Given the description of an element on the screen output the (x, y) to click on. 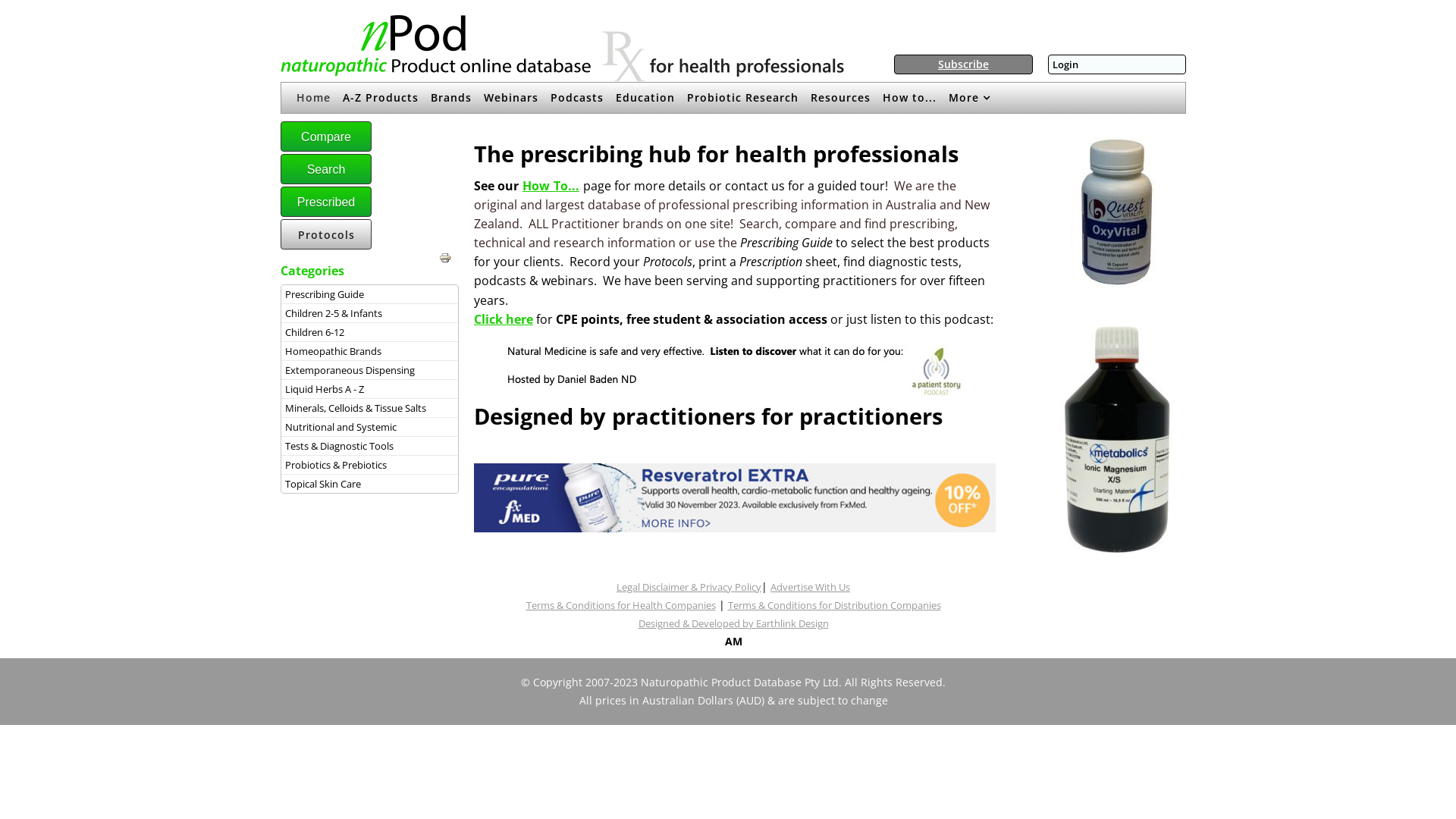
More Element type: text (969, 97)
Children 6-12 Element type: text (369, 332)
Children 2-5 & Infants Element type: text (369, 313)
Extemporaneous Dispensing Element type: text (369, 369)
How To... Element type: text (550, 184)
Click here Element type: text (503, 318)
Liquid Herbs A - Z Element type: text (369, 388)
Probiotic Research Element type: text (742, 97)
Subscribe Element type: text (963, 63)
Prescribed Element type: text (325, 201)
Nutritional and Systemic Element type: text (369, 426)
Protocols Element type: text (325, 234)
Home Element type: text (313, 97)
Minerals, Celloids & Tissue Salts Element type: text (369, 407)
Prescribing Guide Element type: text (369, 294)
Resources Element type: text (840, 97)
Advertise With Us Element type: text (810, 586)
Homeopathic Brands Element type: text (369, 351)
Terms & Conditions for Distribution Companies Element type: text (834, 604)
FxMed Jan to Dec 2023 Element type: hover (734, 497)
Probiotics & Prebiotics Element type: text (369, 464)
Legal Disclaimer & Privacy Policy Element type: text (688, 586)
How to... Element type: text (909, 97)
Designed & Developed by Earthlink Design Element type: text (733, 623)
A-Z Products Element type: text (380, 97)
Education Element type: text (644, 97)
Webinars Element type: text (510, 97)
Login Element type: text (1065, 64)
Brands Element type: text (450, 97)
Search Element type: text (325, 168)
Terms & Conditions for Health Companies Element type: text (620, 604)
Topical Skin Care Element type: text (369, 483)
Podcasts Element type: text (576, 97)
Pure Health Sol Nov Dec 23 Element type: hover (1119, 439)
Compare Element type: text (325, 136)
Tests & Diagnostic Tools Element type: text (369, 445)
